Given the description of an element on the screen output the (x, y) to click on. 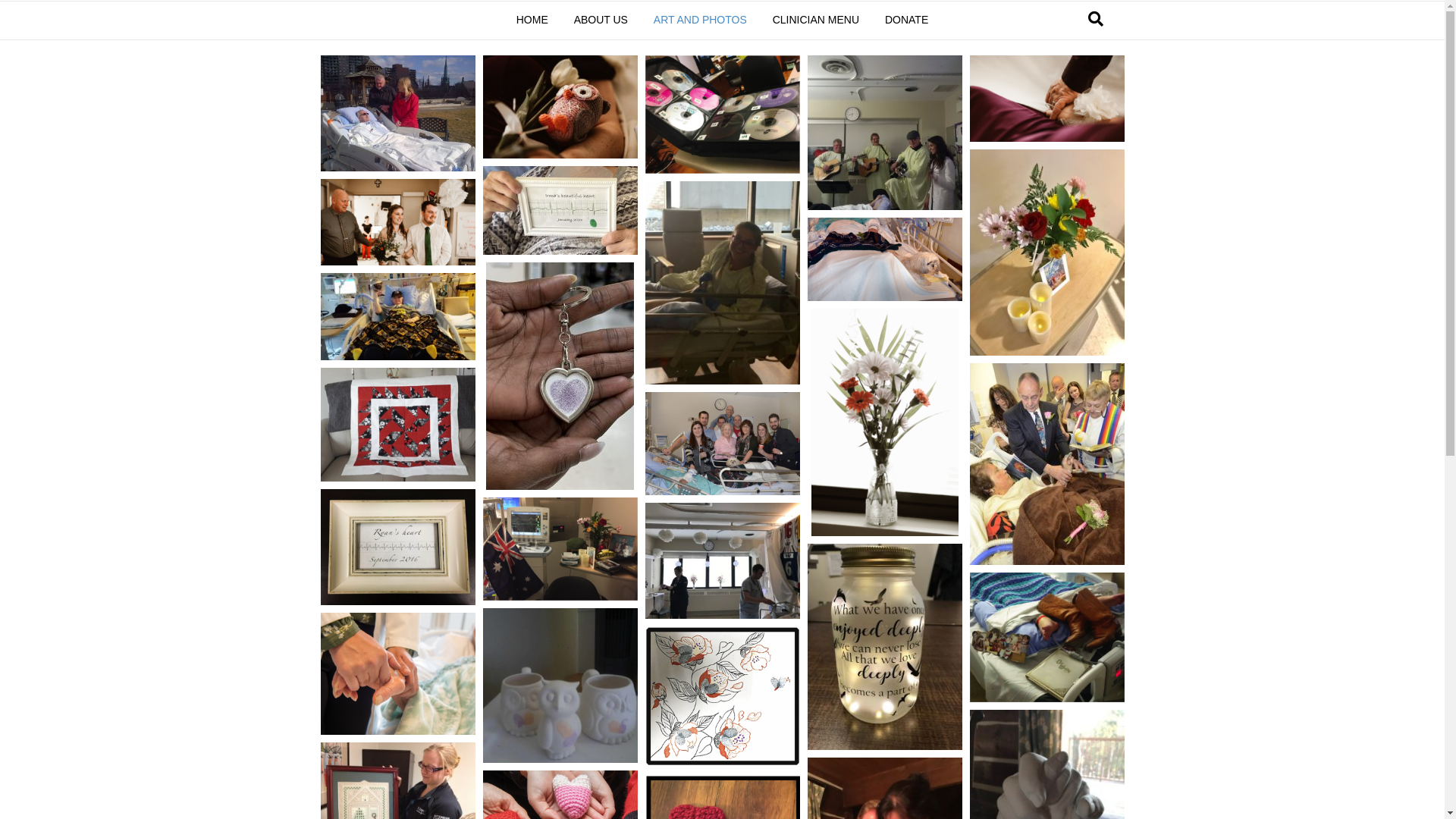
IMG_8457 Element type: hover (397, 221)
Connor-Emily-C-Reed-Photography-1472 Element type: hover (559, 106)
ABOUT US Element type: text (600, 20)
A light of hope Element type: hover (883, 646)
20171006_181534 Element type: hover (397, 316)
IMG_8458 Element type: hover (1046, 98)
Screen Shot 2019-04-10 at 3.19.55 PM Element type: hover (397, 424)
family-pet-reunion Element type: hover (883, 259)
Fingerprint artwork Element type: hover (721, 695)
New Zeland Element type: hover (559, 548)
bedside wedding 2 Element type: hover (1046, 463)
IMG_20190506_151545 Element type: hover (559, 685)
peters-family-celebration Element type: hover (721, 443)
CDs Element type: hover (721, 114)
ART AND PHOTOS Element type: text (700, 20)
HOME Element type: text (532, 20)
Shanahan.AnnivFlowersKarenBull Aug2017[1] Element type: hover (1046, 252)
IMG_7681 Element type: hover (721, 560)
DONATE Element type: text (906, 20)
IMG_8455 Element type: hover (884, 422)
IMG_3325 Element type: hover (559, 210)
IMG-20160205-00202 Element type: hover (397, 113)
Untitled Element type: hover (1046, 637)
Unknown5 Element type: hover (559, 375)
IMG_20160211_184316 Element type: hover (883, 132)
CLINICIAN MENU Element type: text (815, 20)
ECG frame Element type: hover (397, 547)
Screen Shot 2019-11-04 at 11.16.29 PM Element type: hover (397, 673)
IMG_E4542 Element type: hover (721, 282)
